Given the description of an element on the screen output the (x, y) to click on. 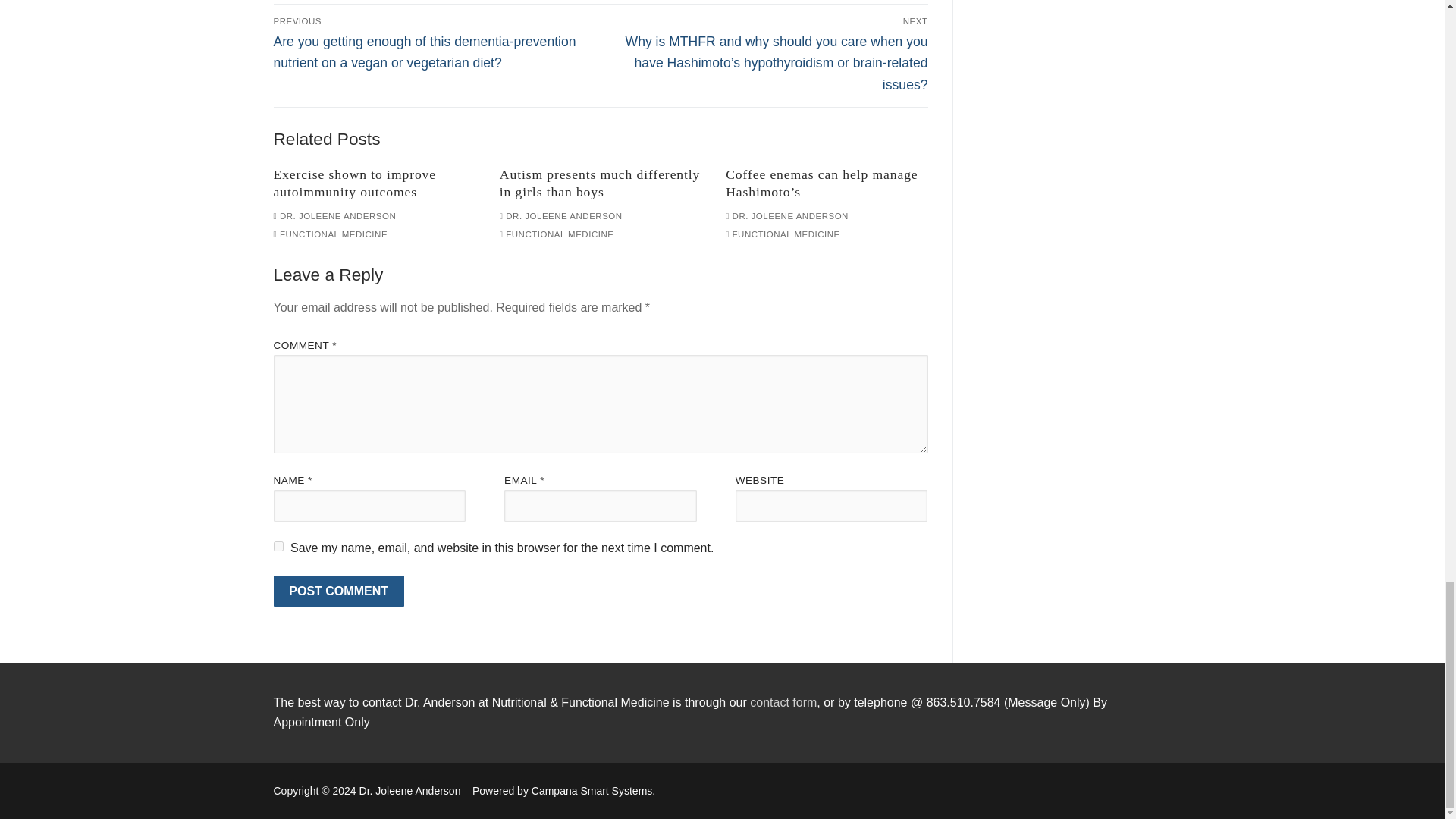
yes (277, 546)
Post Comment (338, 591)
